Given the description of an element on the screen output the (x, y) to click on. 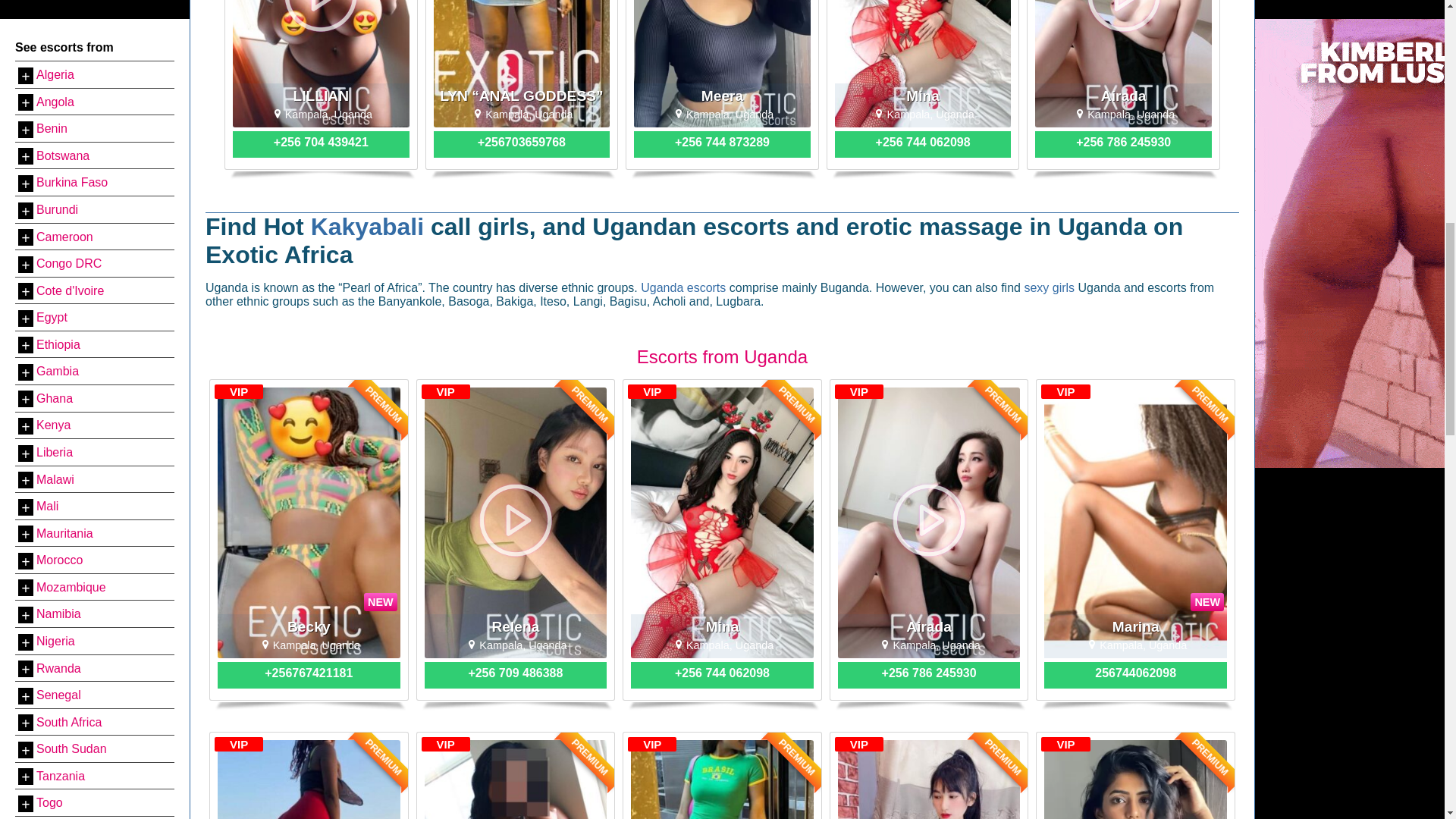
LILLIAN (320, 95)
LILLIAN (320, 63)
Meera (721, 63)
